Given the description of an element on the screen output the (x, y) to click on. 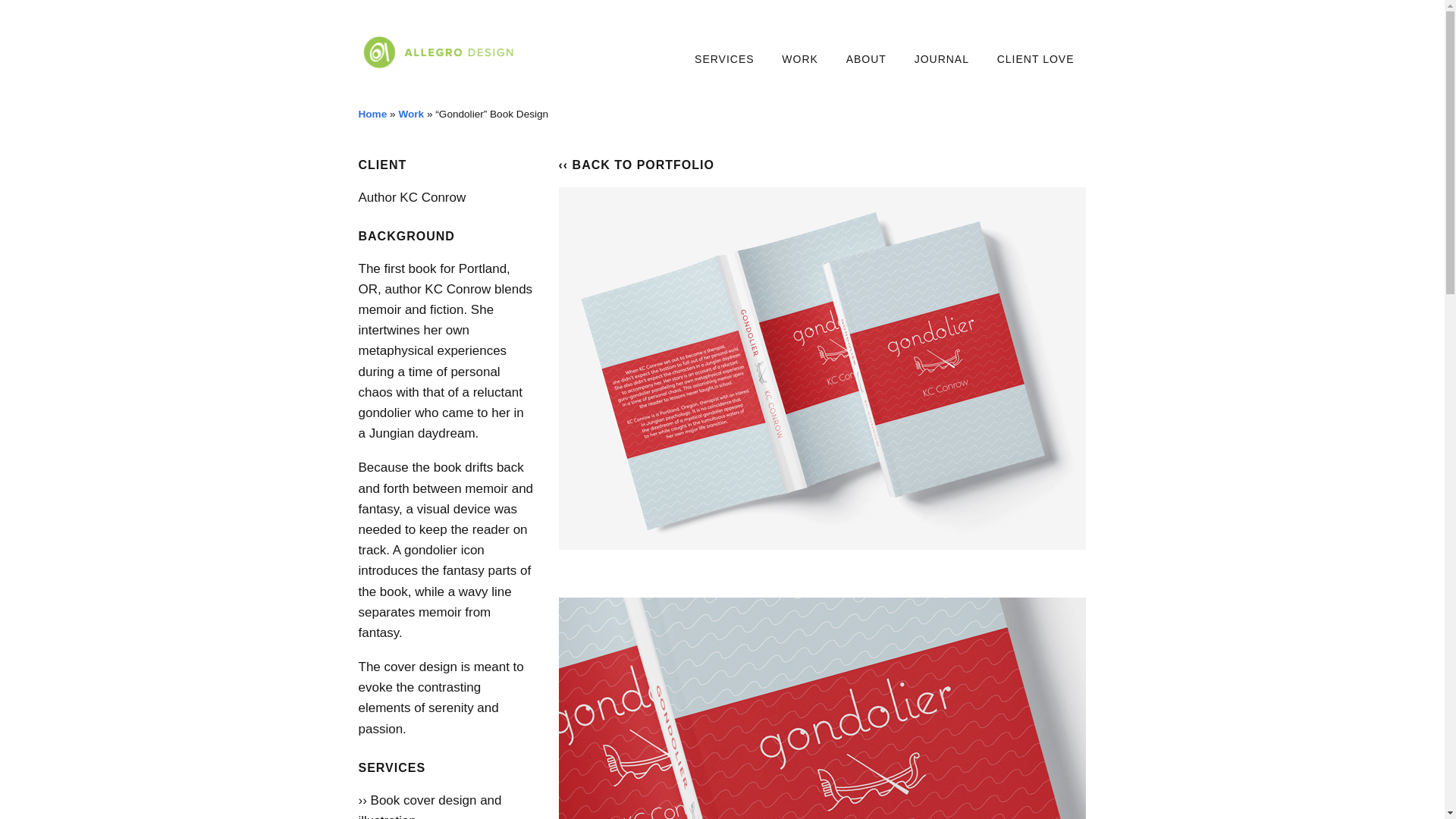
Home (372, 113)
ABOUT (866, 60)
Work (410, 113)
SERVICES (724, 60)
JOURNAL (941, 60)
WORK (799, 60)
Allegro Design Portfolio (799, 60)
CLIENT LOVE (1035, 60)
